Given the description of an element on the screen output the (x, y) to click on. 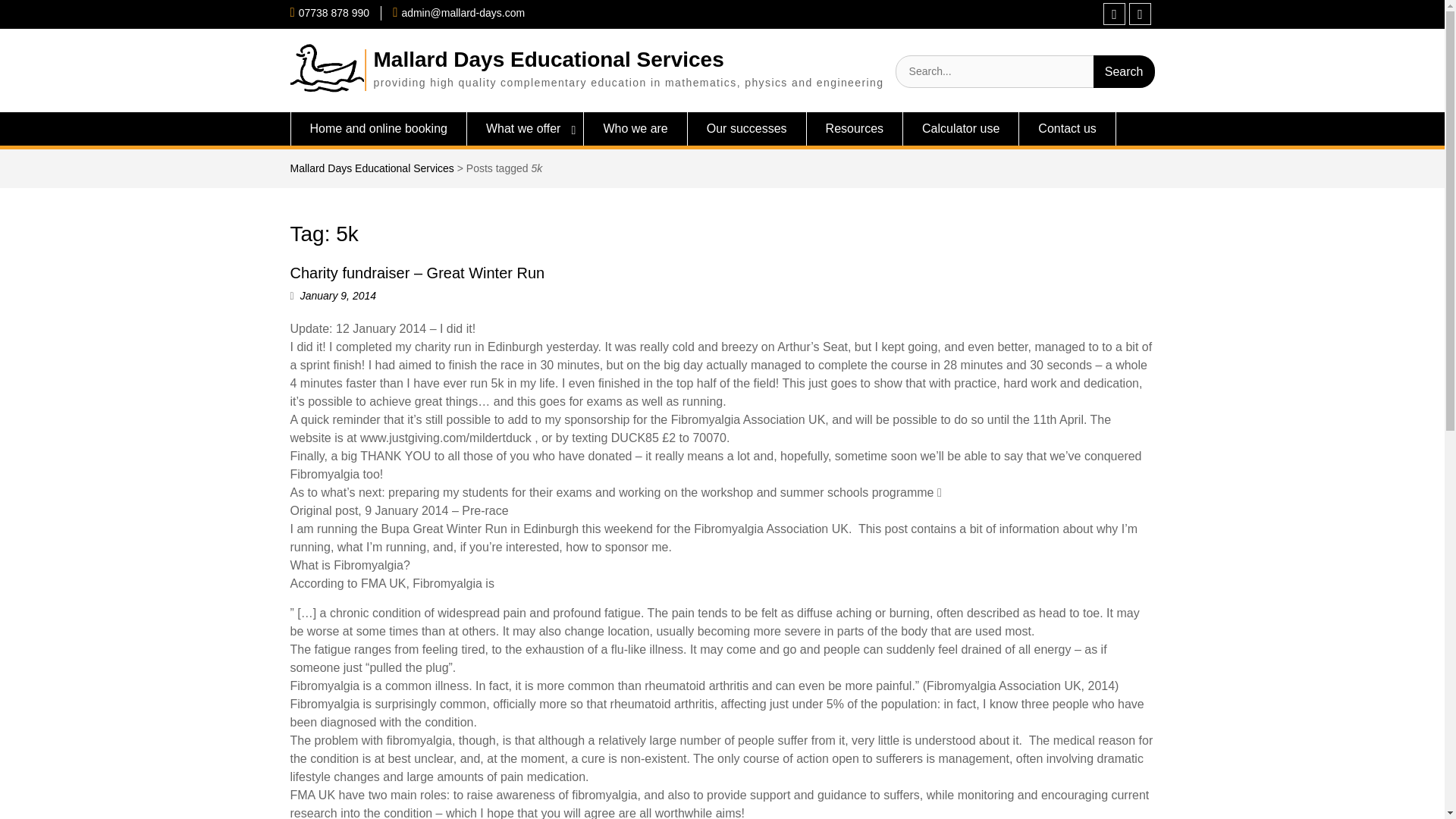
Calculator use (960, 128)
Follow us on Facebook (1114, 14)
Search (1123, 71)
Mallard Days Educational Services (547, 59)
Resources (854, 128)
Our successes (746, 128)
Who we are (635, 128)
Home and online booking (377, 128)
Search (1123, 71)
Search (1123, 71)
Search for: (1024, 71)
January 9, 2014 (337, 295)
Mallard Days Educational Services (370, 168)
07738 878 990 (333, 12)
Contact us (1067, 128)
